Given the description of an element on the screen output the (x, y) to click on. 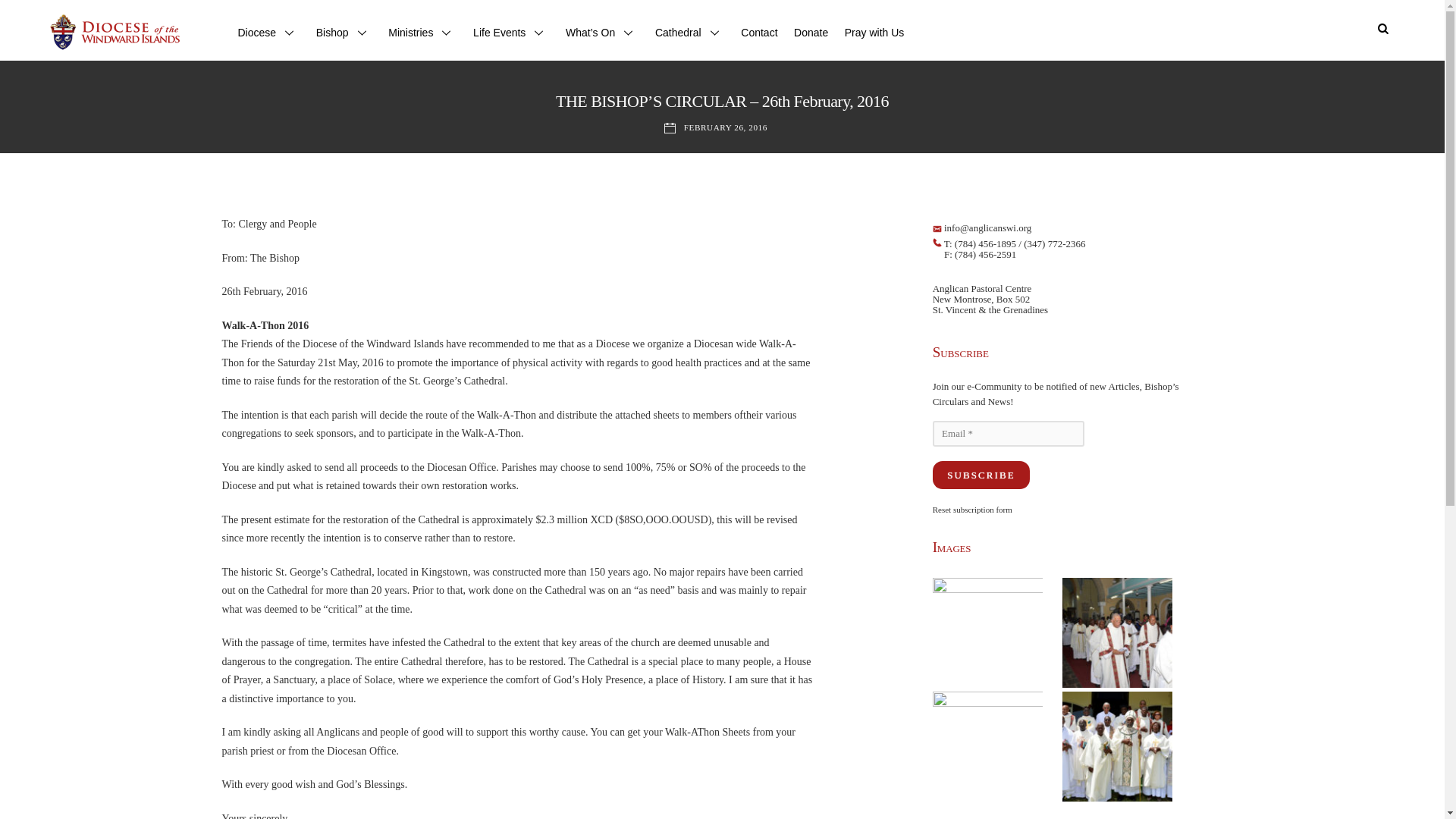
Anglican Diocese of the Windward Islands (113, 47)
Diocese (268, 35)
Bishop (343, 35)
Subscribe (981, 475)
Ministries (422, 35)
Email (1008, 433)
Life Events (510, 35)
